Given the description of an element on the screen output the (x, y) to click on. 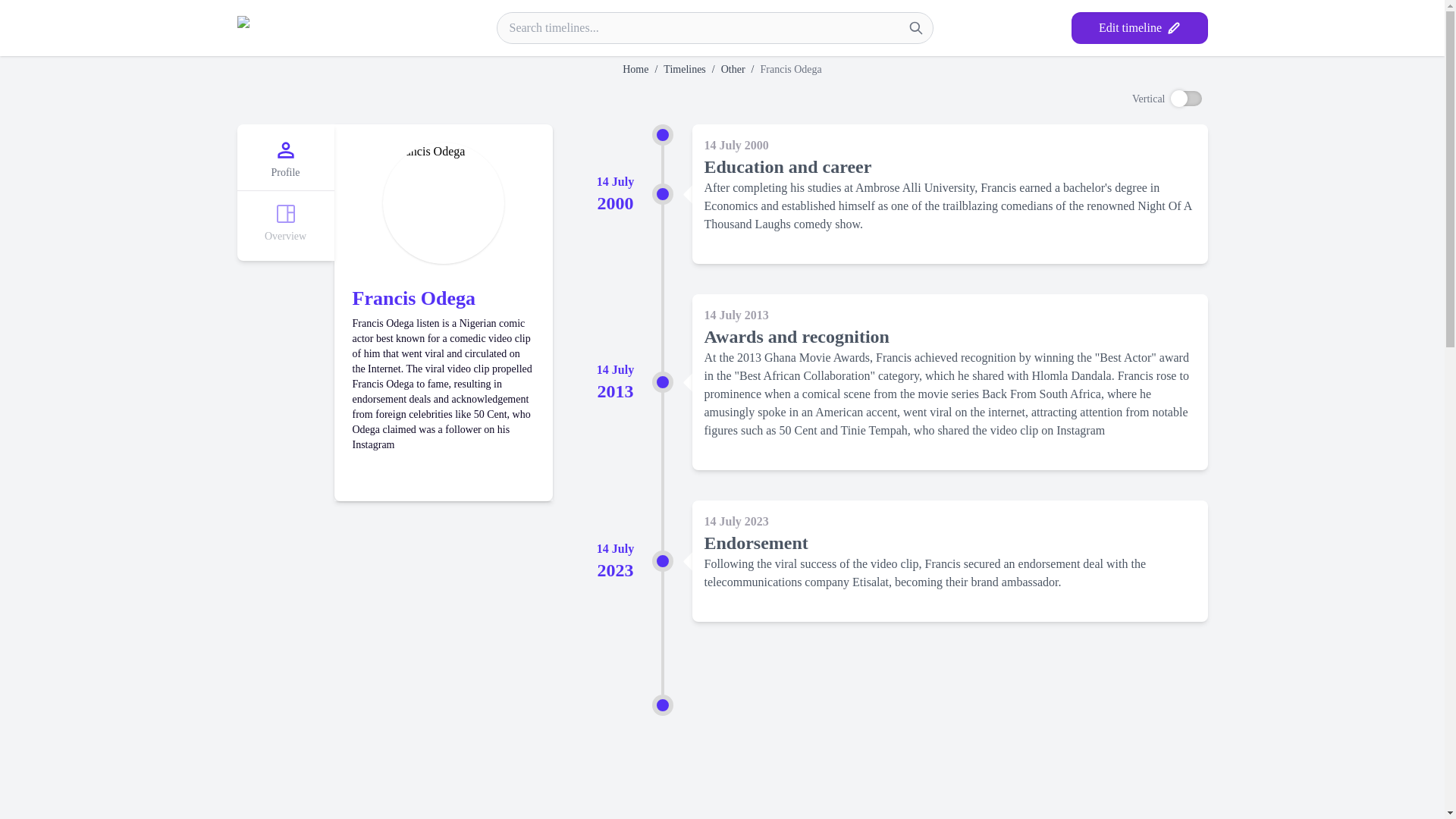
Other (732, 69)
on (1185, 98)
Edit timeline (1138, 28)
Timelines (684, 69)
Home (635, 69)
